Given the description of an element on the screen output the (x, y) to click on. 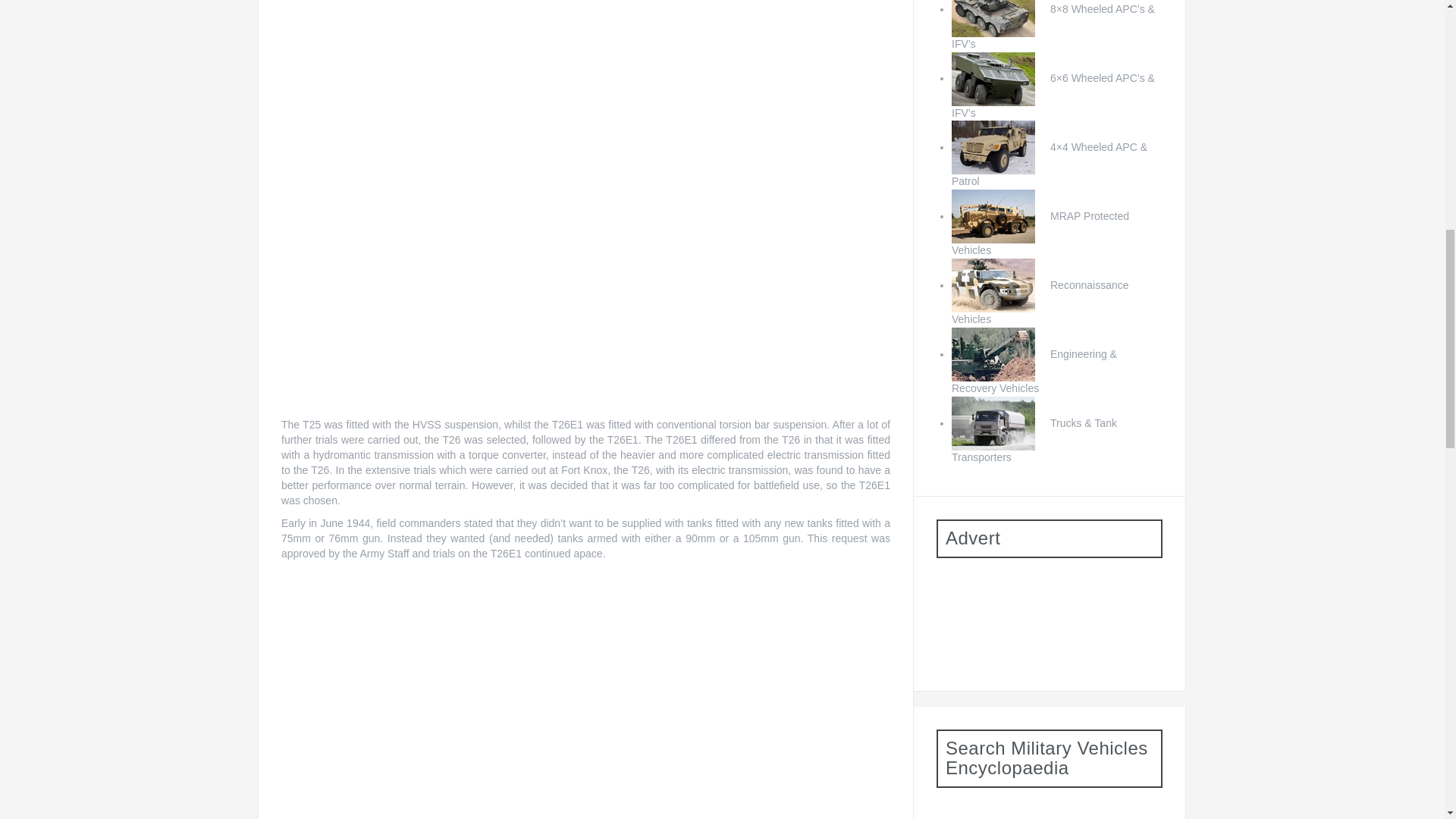
Reconnaissance Vehicles (1040, 302)
